Given the description of an element on the screen output the (x, y) to click on. 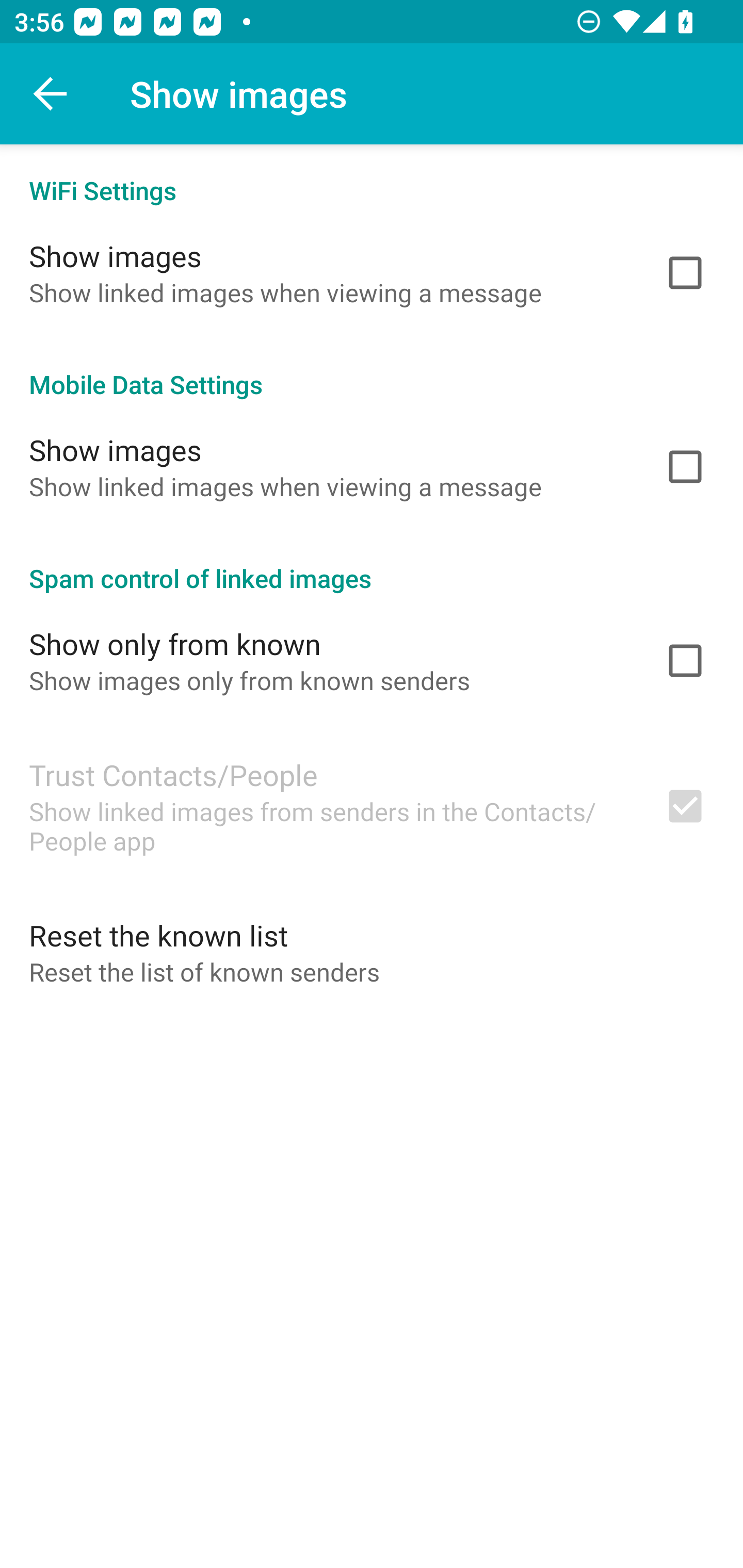
Navigate up (50, 93)
